Given the description of an element on the screen output the (x, y) to click on. 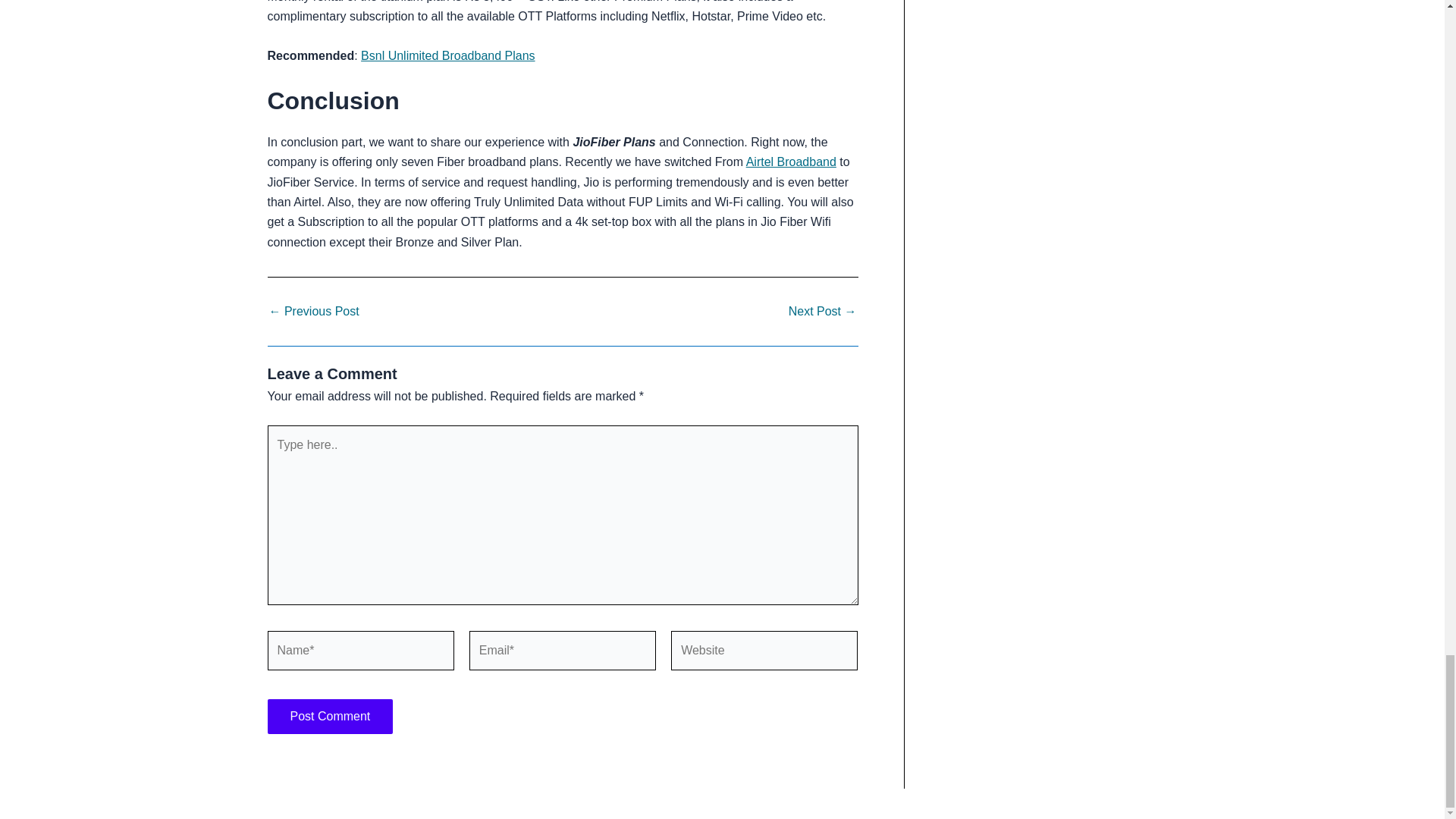
Post Comment (329, 716)
